Given the description of an element on the screen output the (x, y) to click on. 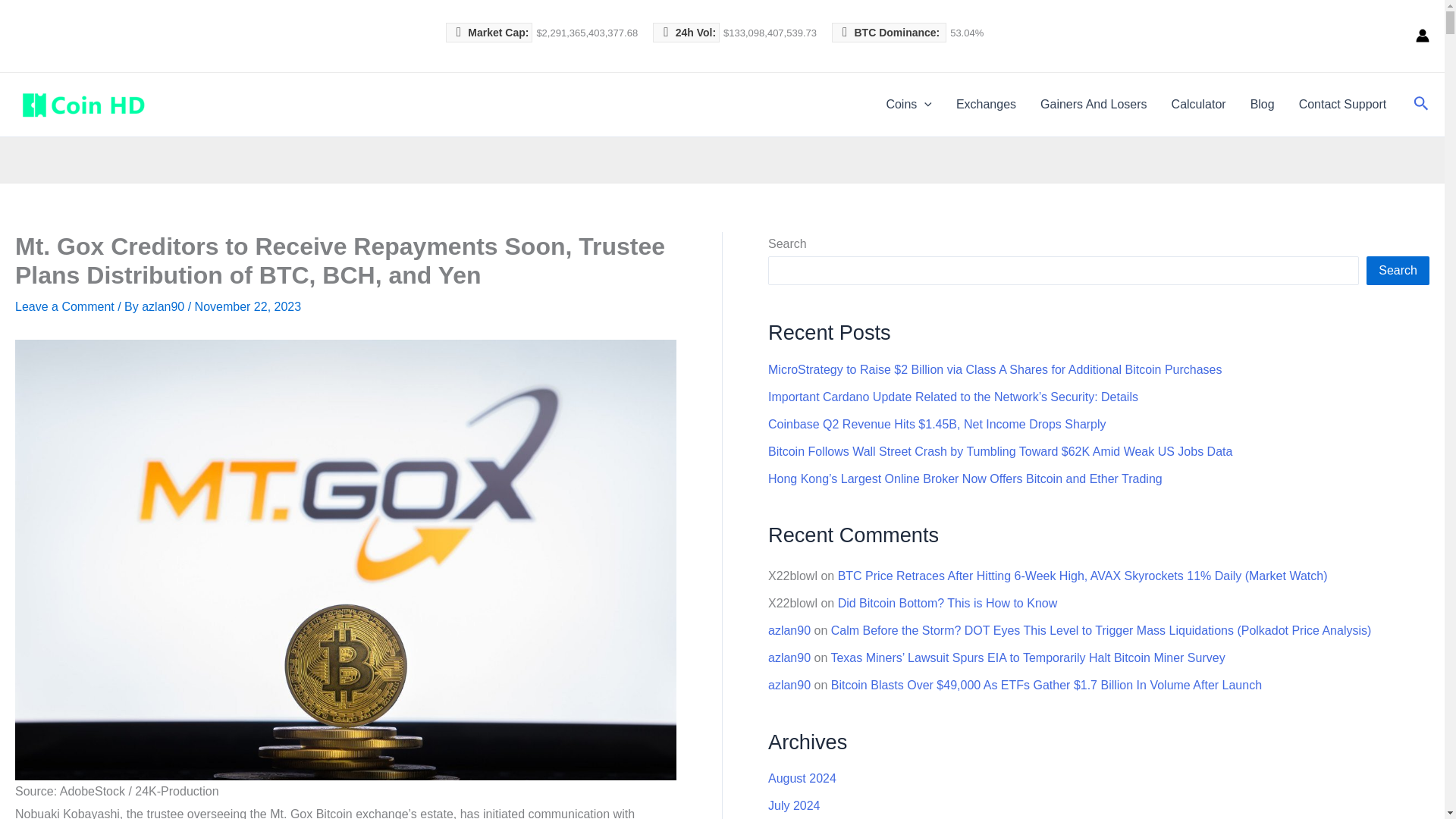
azlan90 (164, 306)
Contact Support (1343, 104)
Gainers And Losers (1092, 104)
Exchanges (985, 104)
View all posts by azlan90 (164, 306)
Calculator (1198, 104)
Leave a Comment (64, 306)
Coins (908, 104)
